Given the description of an element on the screen output the (x, y) to click on. 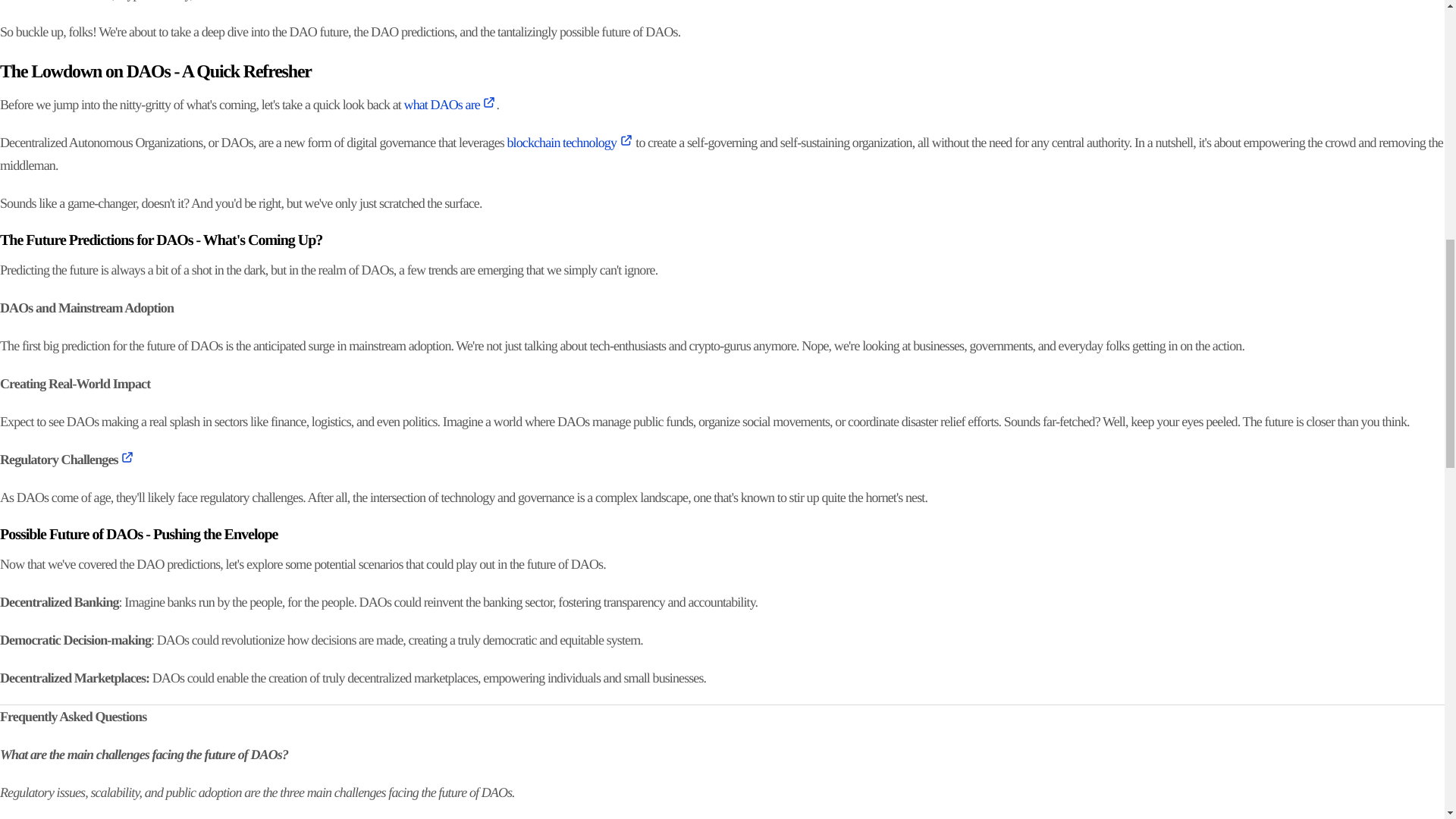
what DAOs are (450, 104)
Regulatory Challenges (66, 459)
blockchain technology (569, 142)
